Given the description of an element on the screen output the (x, y) to click on. 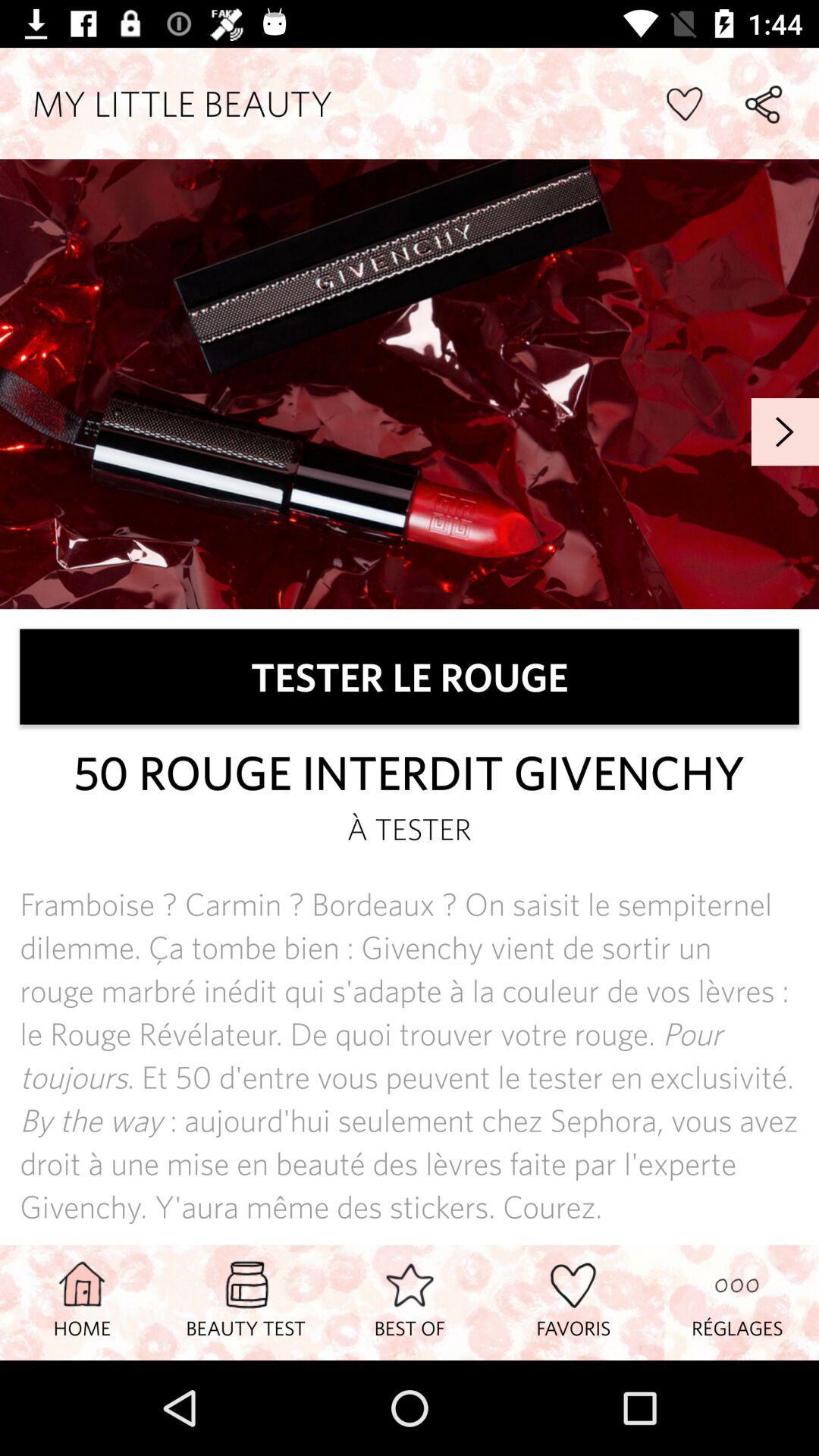
click icon above tester le rouge item (785, 431)
